Given the description of an element on the screen output the (x, y) to click on. 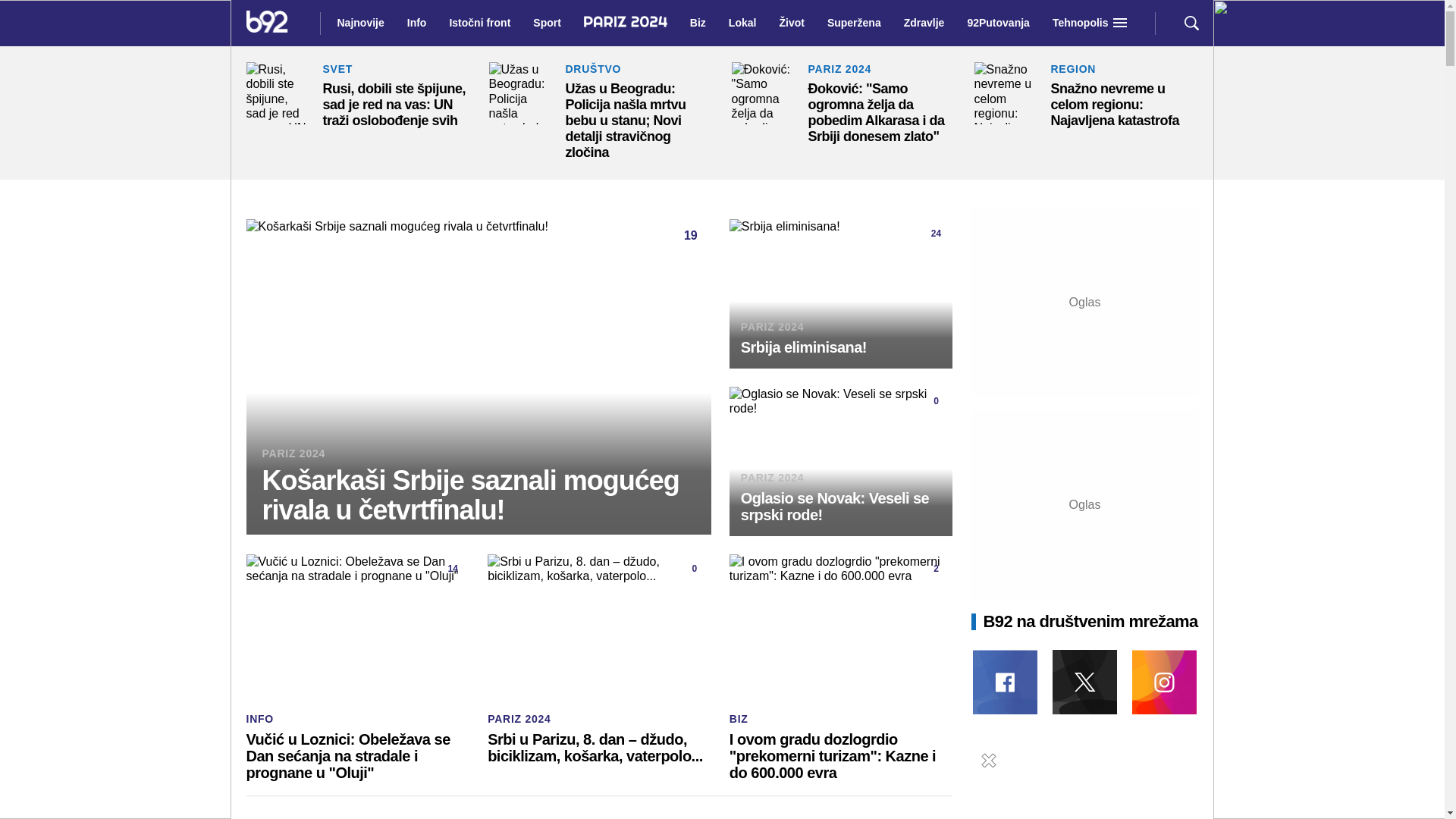
Sport (547, 22)
Lokal (742, 22)
Tehnopolis (1080, 22)
Najnovije (360, 22)
Zdravlje (924, 22)
92Putovanja (997, 22)
